Given the description of an element on the screen output the (x, y) to click on. 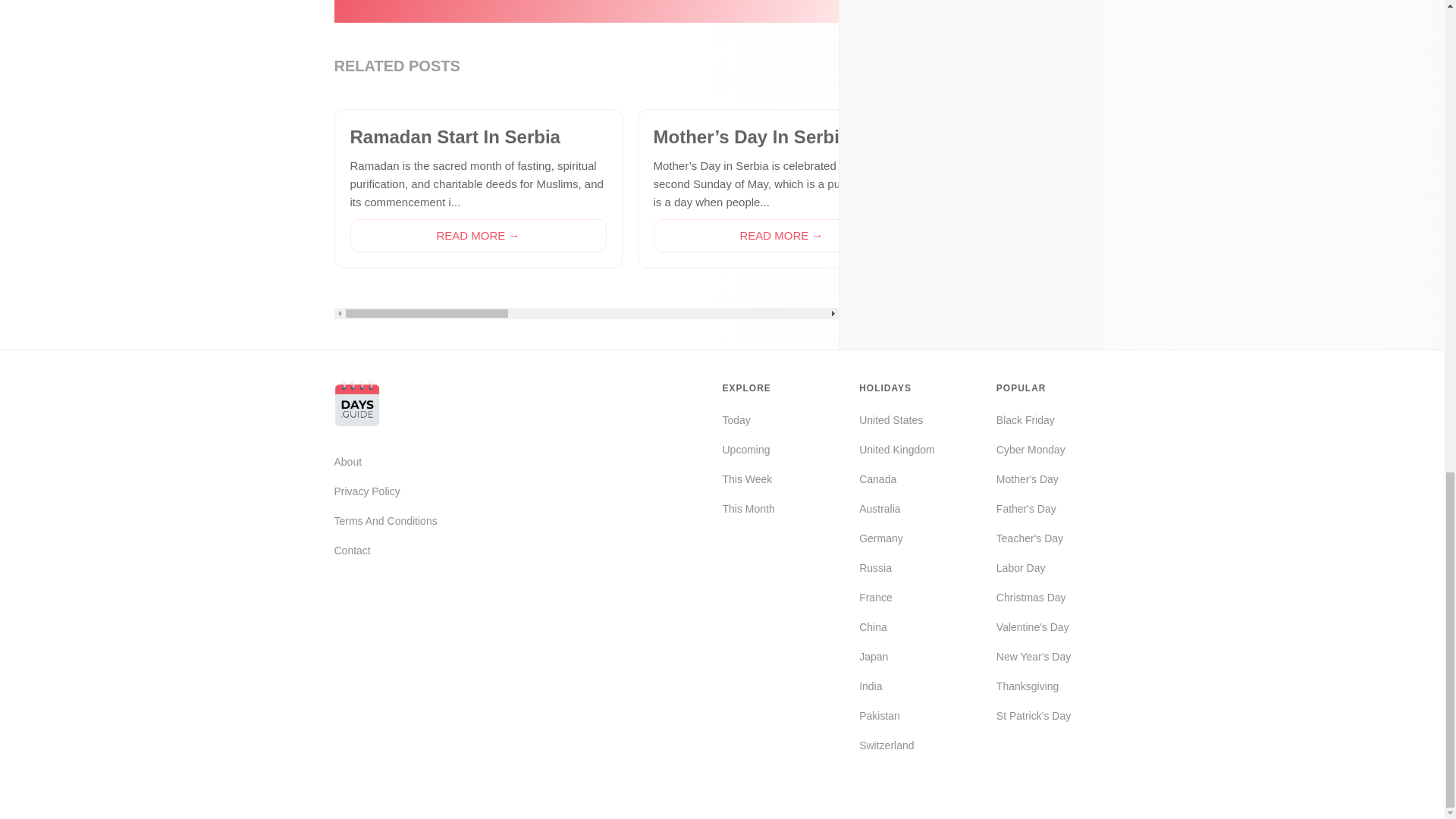
United Kingdom (896, 449)
About (384, 461)
This Month (748, 508)
This Week (748, 479)
Upcoming (748, 449)
Terms And Conditions (384, 520)
Today (748, 420)
Privacy Policy (384, 491)
Contact (384, 550)
United States (896, 420)
